Given the description of an element on the screen output the (x, y) to click on. 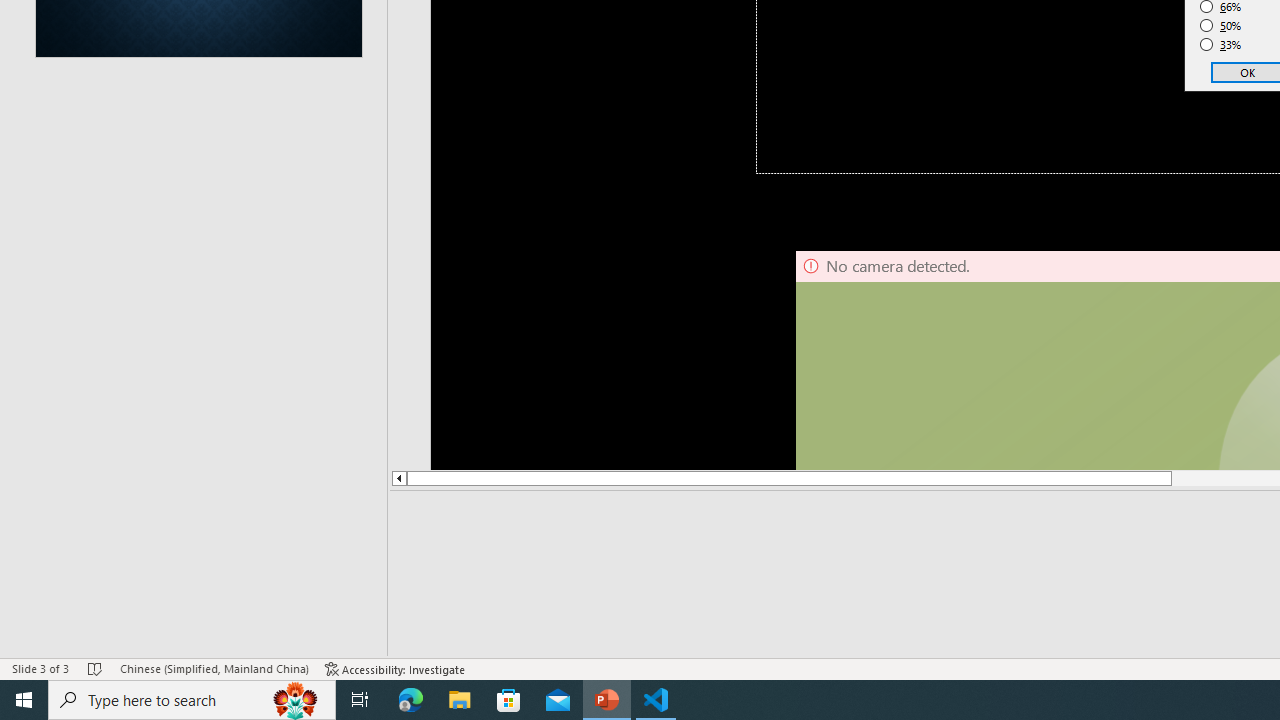
Search highlights icon opens search home window (295, 699)
50% (1221, 25)
Visual Studio Code - 1 running window (656, 699)
33% (1221, 44)
Task View (359, 699)
Microsoft Store (509, 699)
File Explorer (460, 699)
Microsoft Edge (411, 699)
Type here to search (191, 699)
PowerPoint - 1 running window (607, 699)
